Given the description of an element on the screen output the (x, y) to click on. 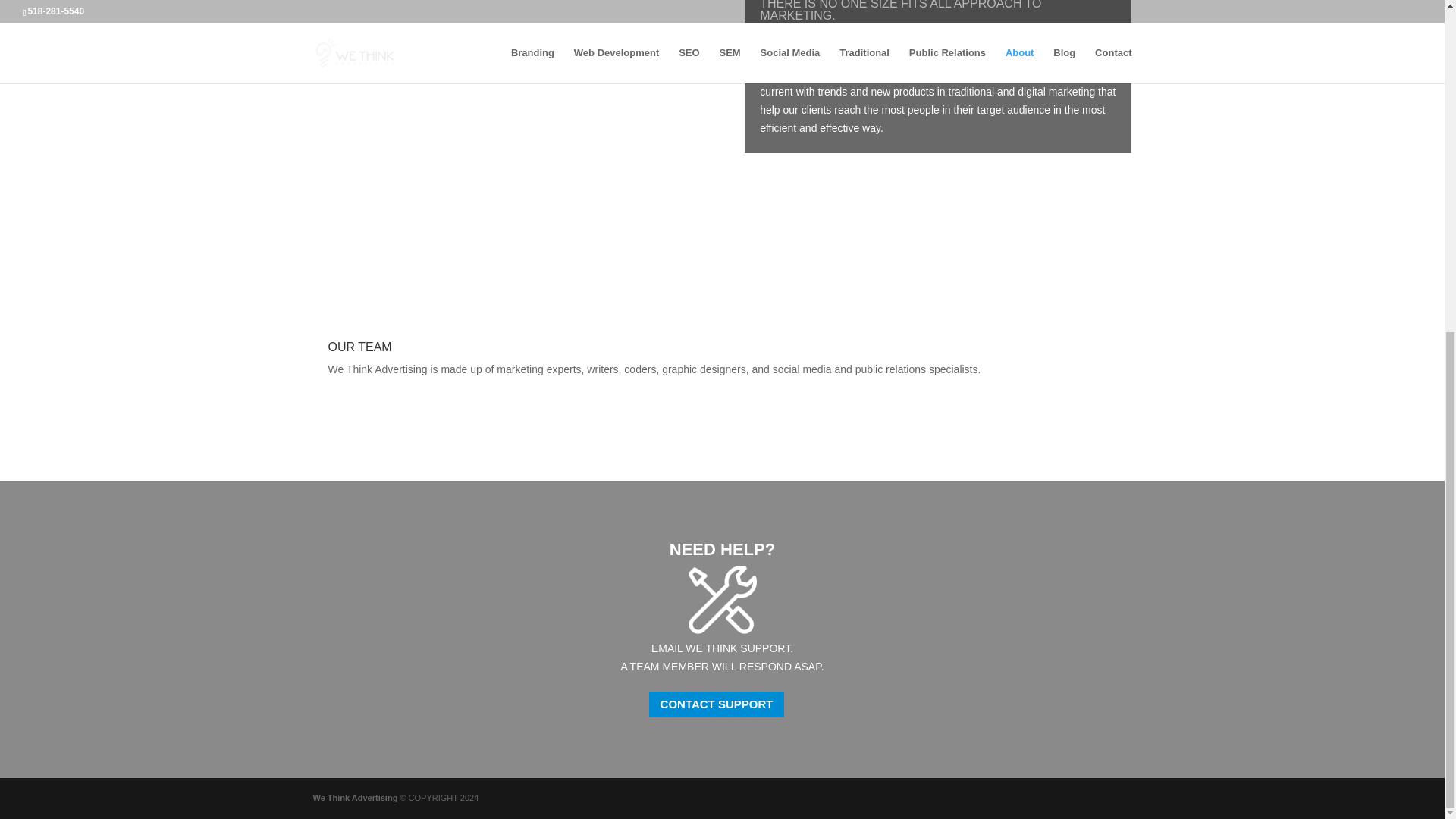
We Think Advertising (355, 797)
CONTACT SUPPORT (716, 704)
Your Full Service Advertising Agency (355, 797)
